Given the description of an element on the screen output the (x, y) to click on. 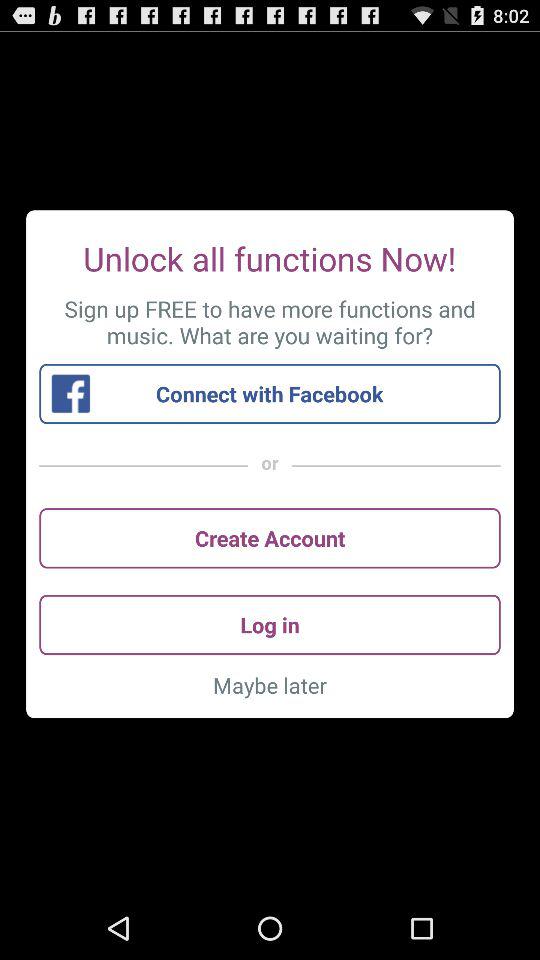
tap the icon below the log in (269, 685)
